Given the description of an element on the screen output the (x, y) to click on. 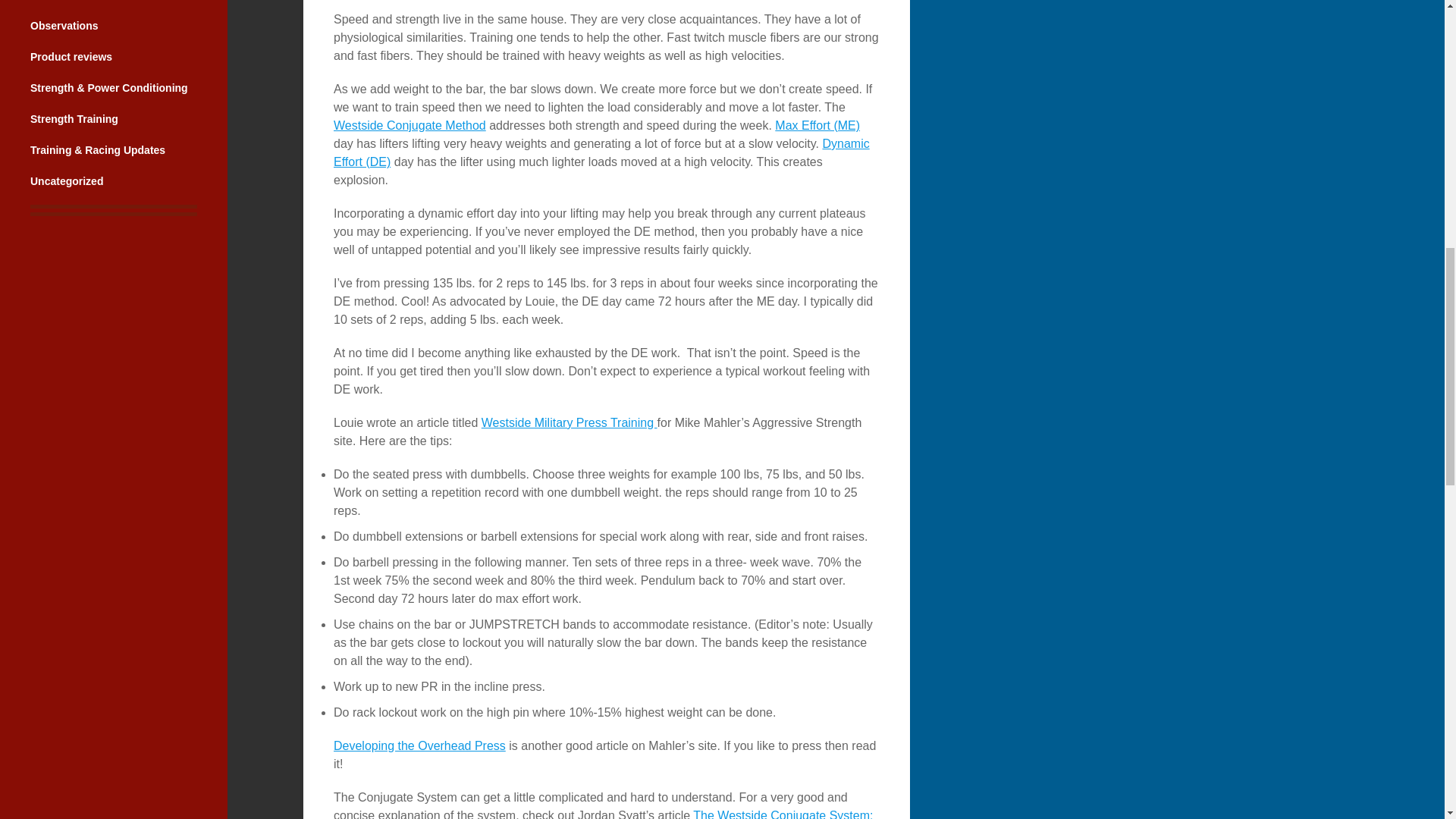
Uncategorized (66, 181)
Developing the Overhead Press (419, 745)
Observations (63, 25)
Nutrition (52, 0)
Strength Training (73, 119)
Product reviews (71, 56)
Westside Conjugate Method (409, 124)
Westside Military Press Training  (569, 422)
